Given the description of an element on the screen output the (x, y) to click on. 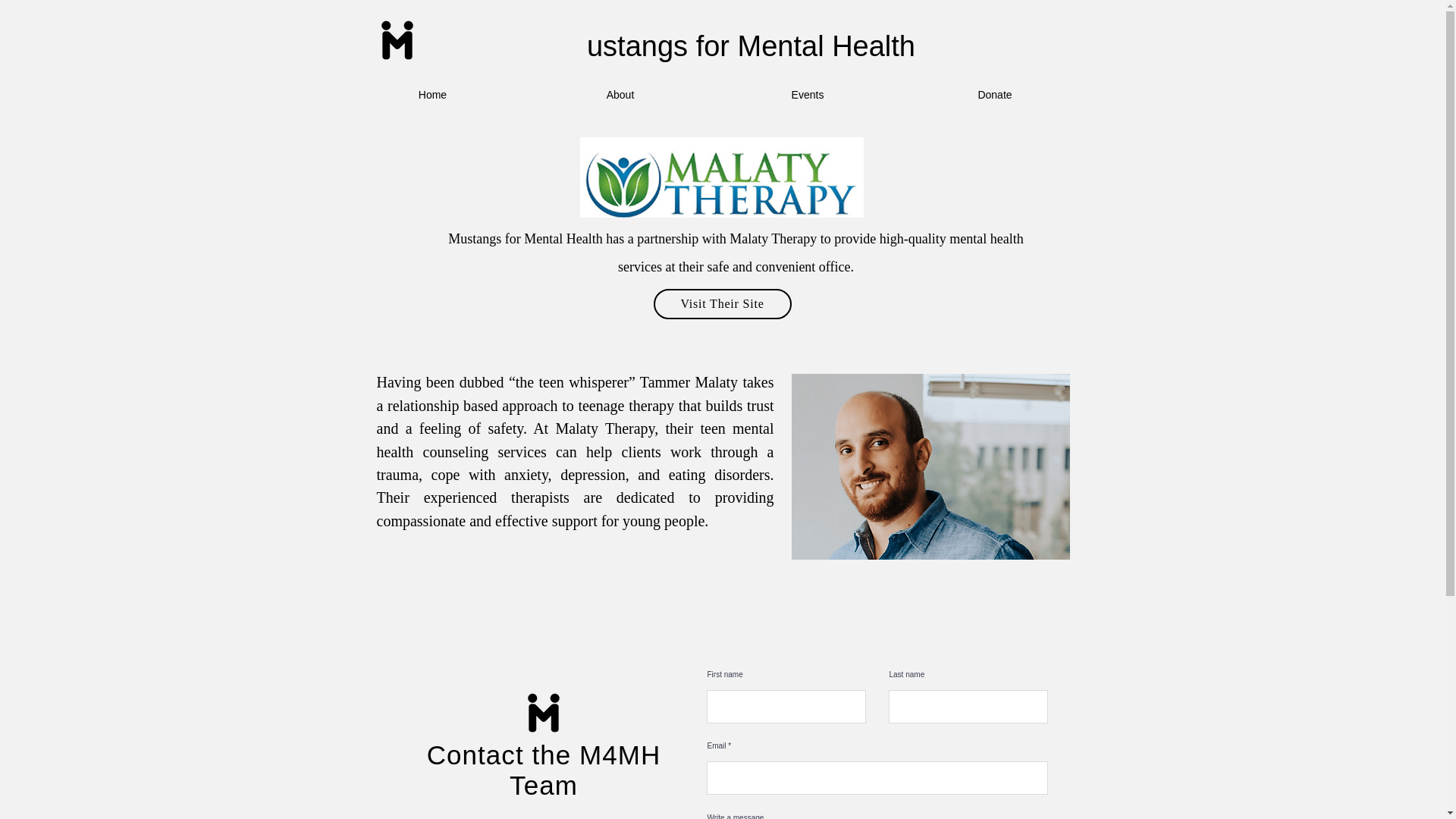
ustangs for Mental Health (750, 46)
Events (807, 94)
Home (431, 94)
Visit Their Site (722, 304)
About (619, 94)
Donate (994, 94)
